Given the description of an element on the screen output the (x, y) to click on. 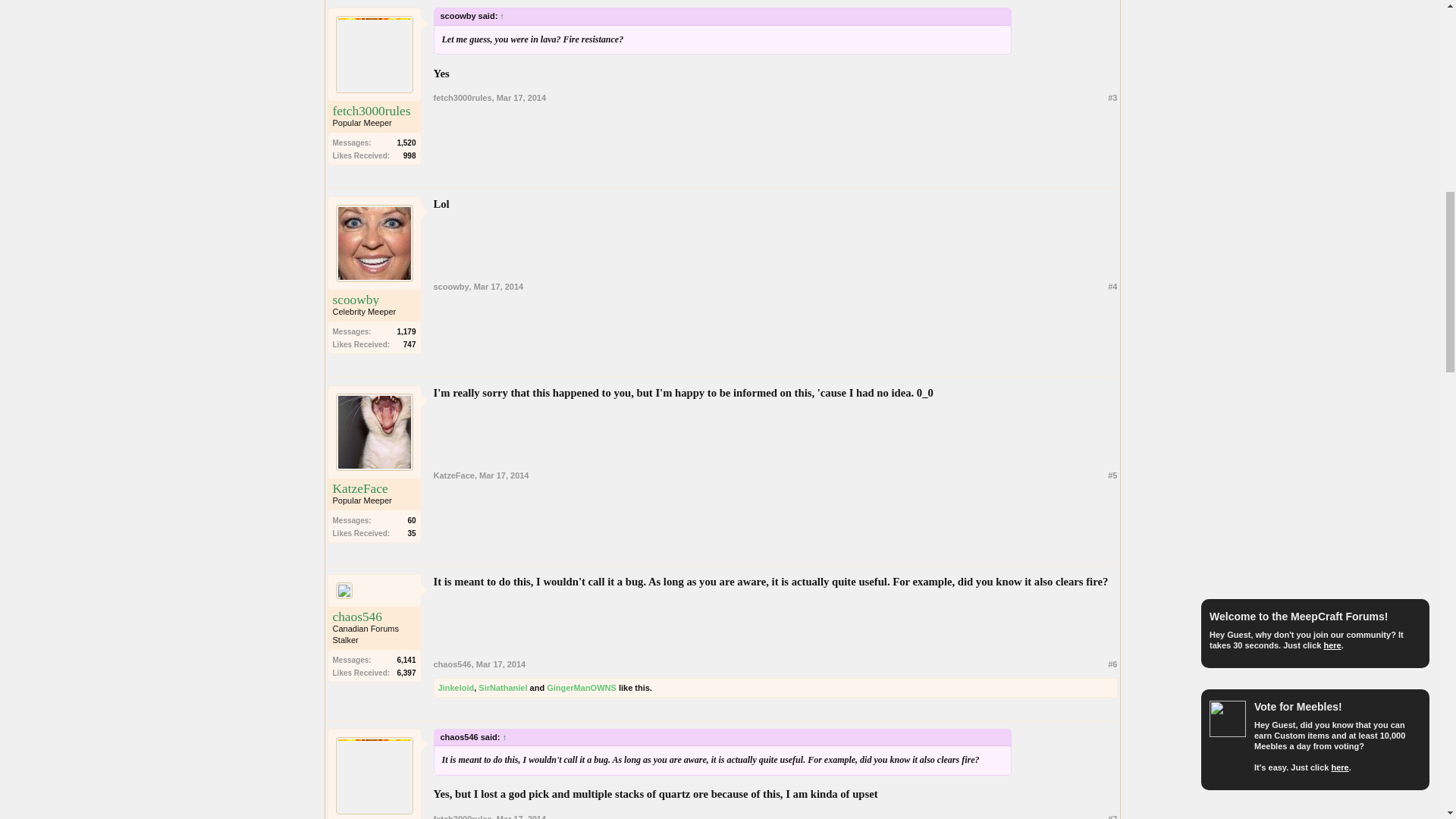
Permalink (500, 664)
Permalink (521, 97)
Permalink (498, 286)
Permalink (503, 474)
